Given the description of an element on the screen output the (x, y) to click on. 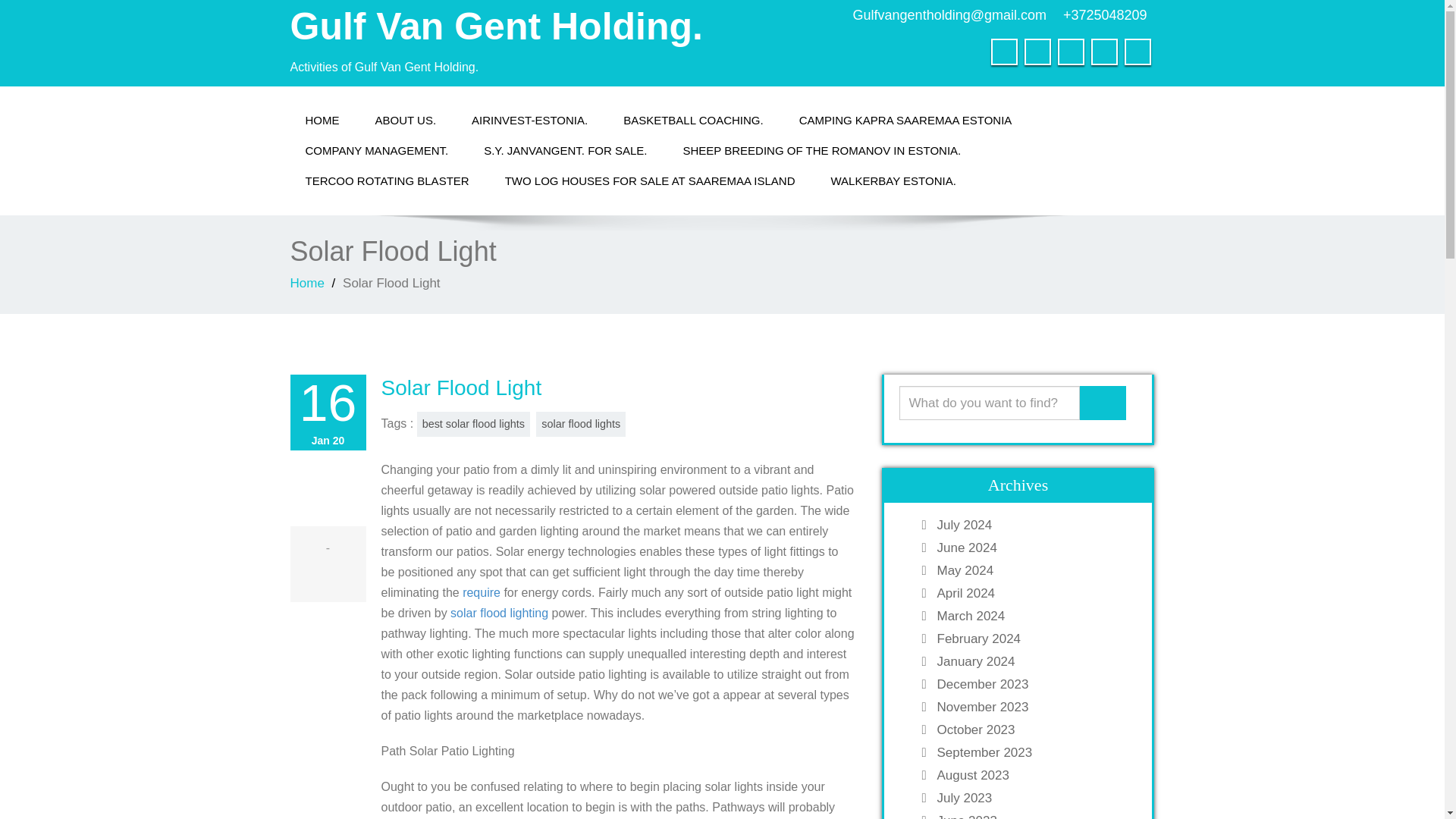
WALKERBAY ESTONIA. (893, 181)
November 2023 (1033, 707)
Home (321, 120)
Gulf Van Gent Holding. (495, 25)
Gulf Van Gent Holding. (495, 25)
COMPANY MANAGEMENT. (376, 150)
September 2023 (1033, 752)
best solar flood lights (472, 423)
July 2024 (1033, 525)
Home (306, 283)
August 2023 (1033, 775)
SHEEP BREEDING OF THE ROMANOV IN ESTONIA. (820, 150)
October 2023 (1033, 729)
HOME (321, 120)
CAMPING KAPRA SAAREMAA ESTONIA (905, 120)
